Given the description of an element on the screen output the (x, y) to click on. 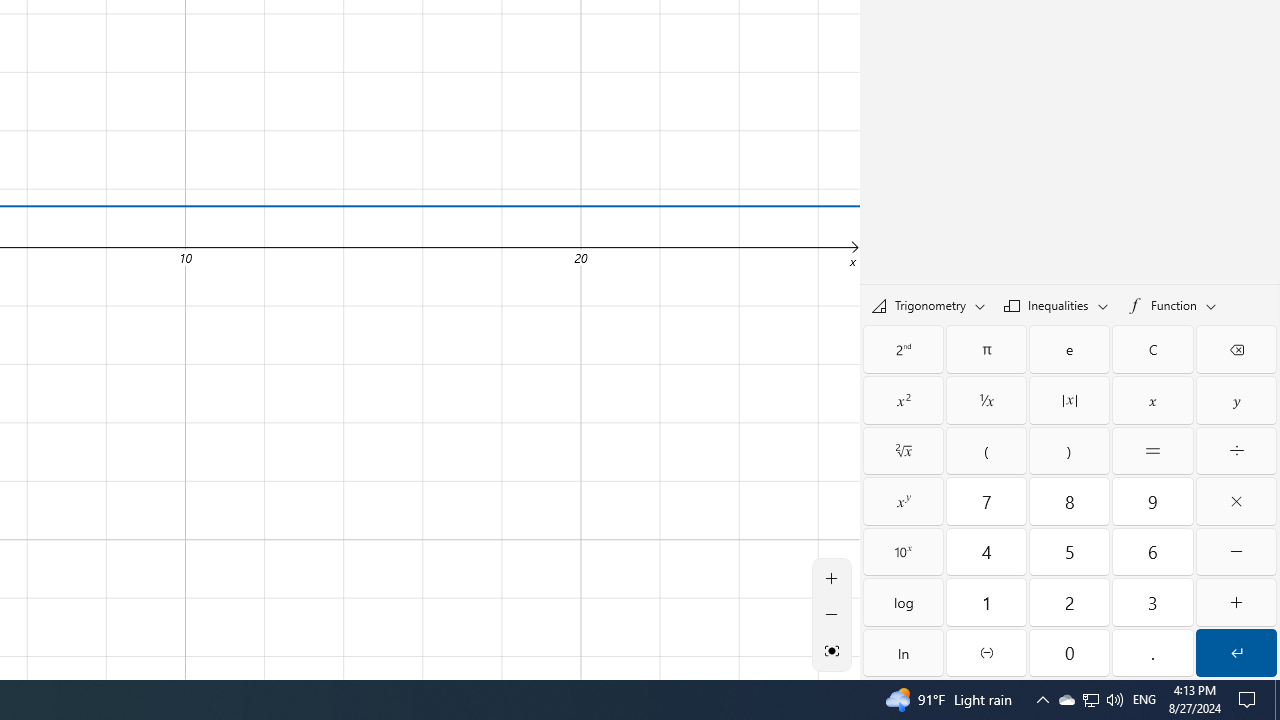
Zero (1069, 652)
Left parenthesis (985, 450)
Minus (1236, 551)
Inequalities (1055, 304)
Six (1153, 551)
Square root (903, 450)
Trigonometry (928, 305)
Inequalities (1056, 305)
Log (903, 602)
